Given the description of an element on the screen output the (x, y) to click on. 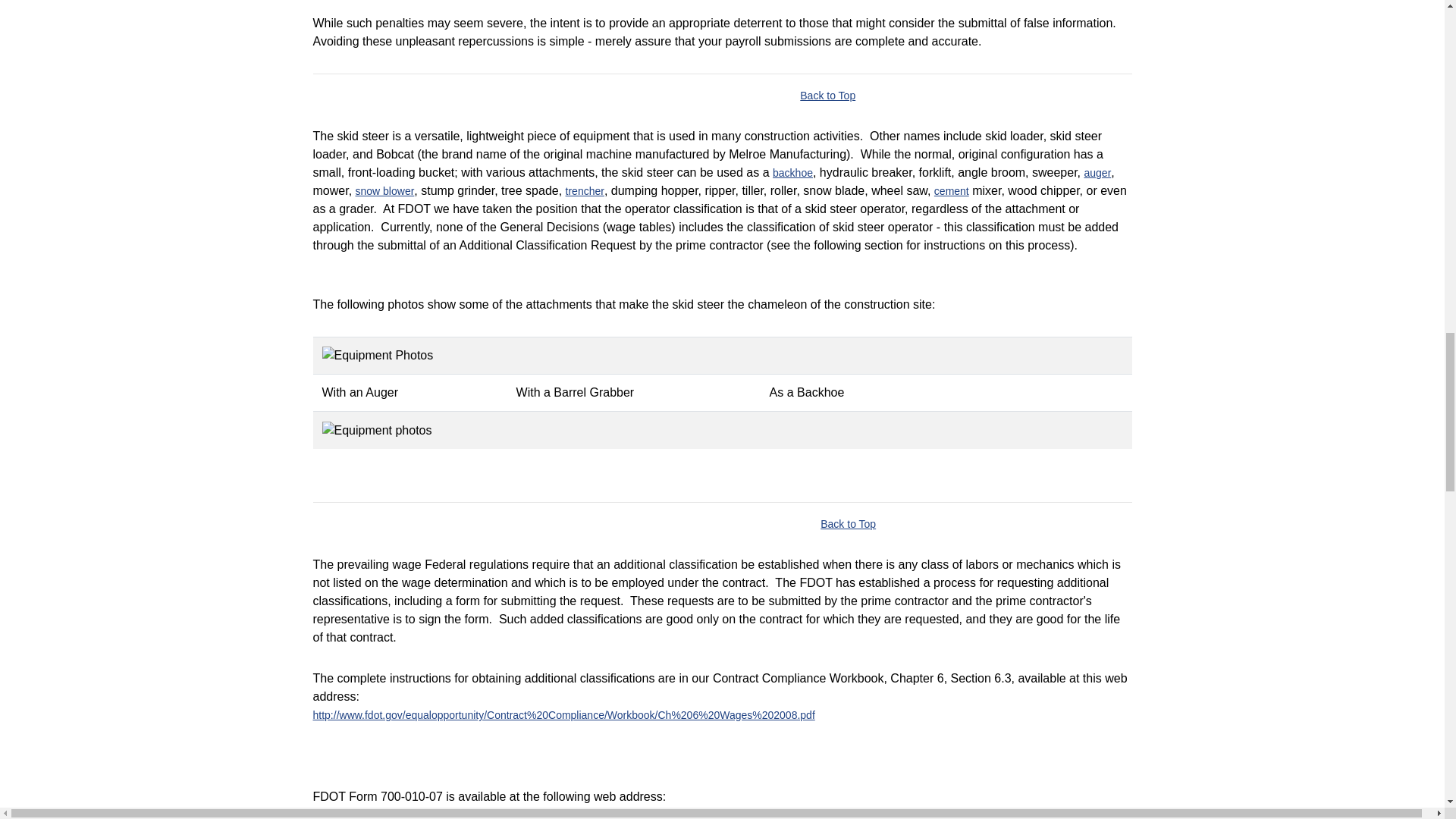
auger (1096, 173)
snow blower (384, 191)
backhoe (792, 173)
Back to Top (827, 95)
